Given the description of an element on the screen output the (x, y) to click on. 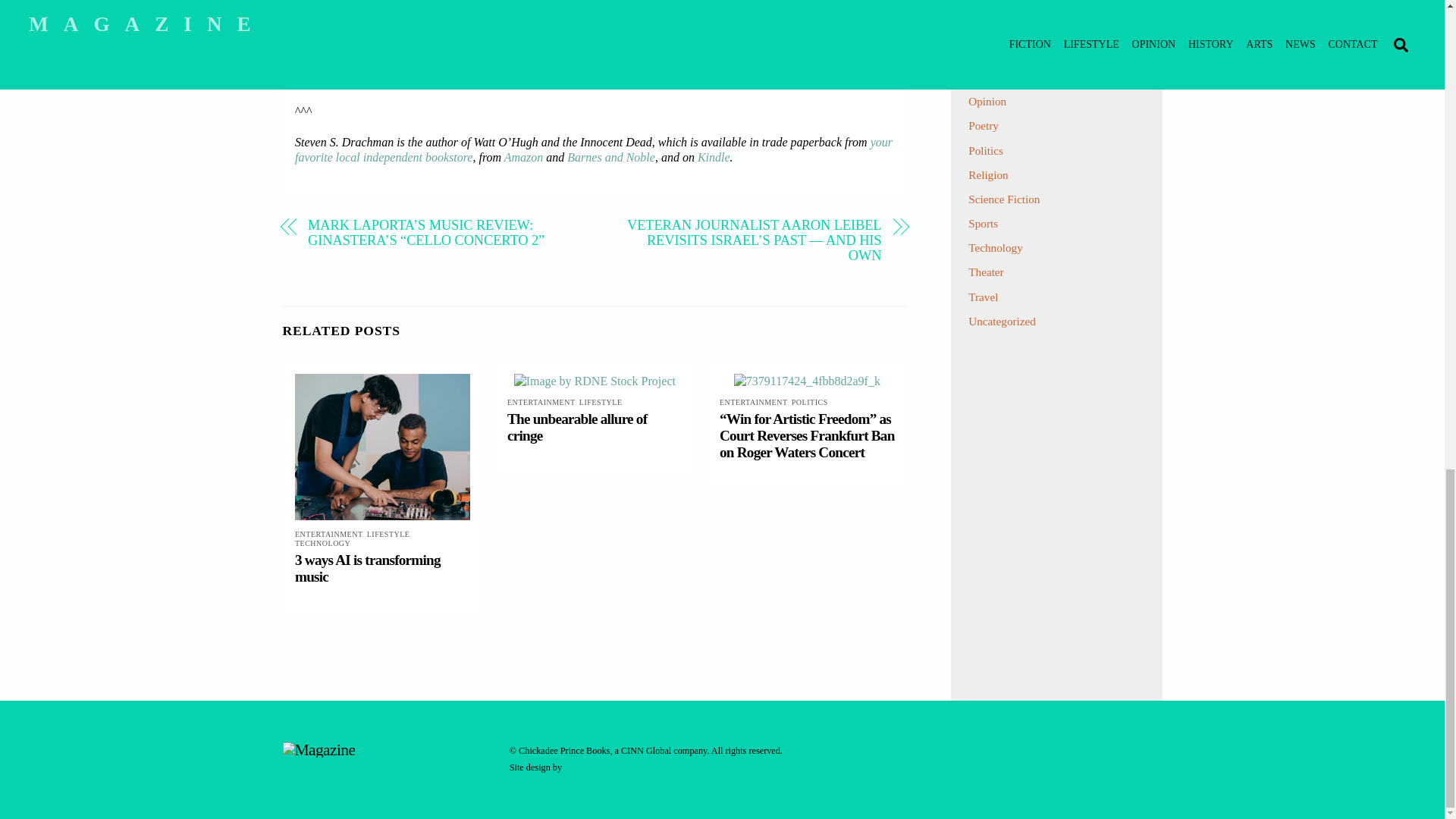
3 ways AI is transforming music (368, 568)
Amazon (523, 156)
See more info, and buy your ticket, here. (591, 41)
The unbearable allure of cringe (576, 427)
LIFESTYLE (388, 533)
Magazine (318, 750)
LIFESTYLE (601, 402)
TECHNOLOGY (322, 542)
your favorite local independent bookstore (593, 149)
Image by RDNE Stock Project (594, 381)
